Given the description of an element on the screen output the (x, y) to click on. 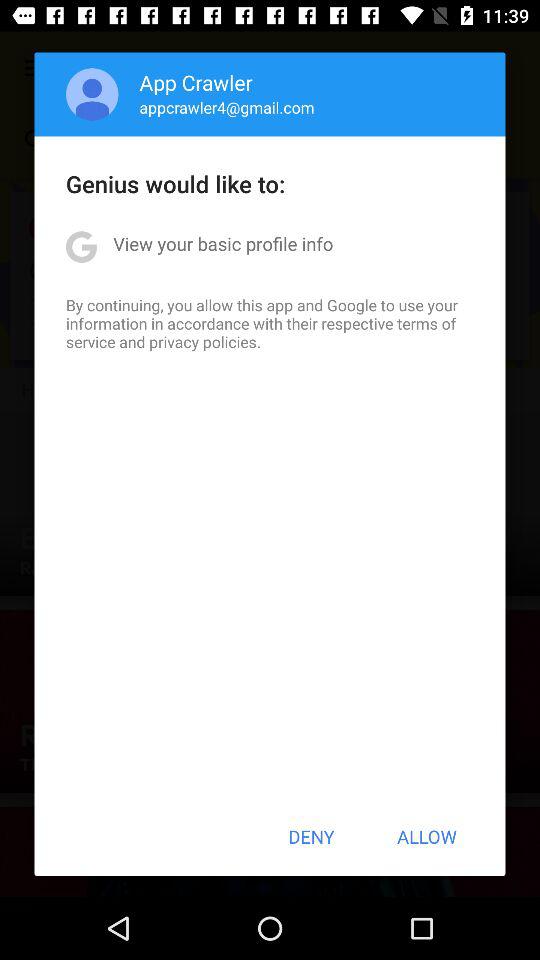
select the app to the left of the app crawler icon (92, 94)
